Given the description of an element on the screen output the (x, y) to click on. 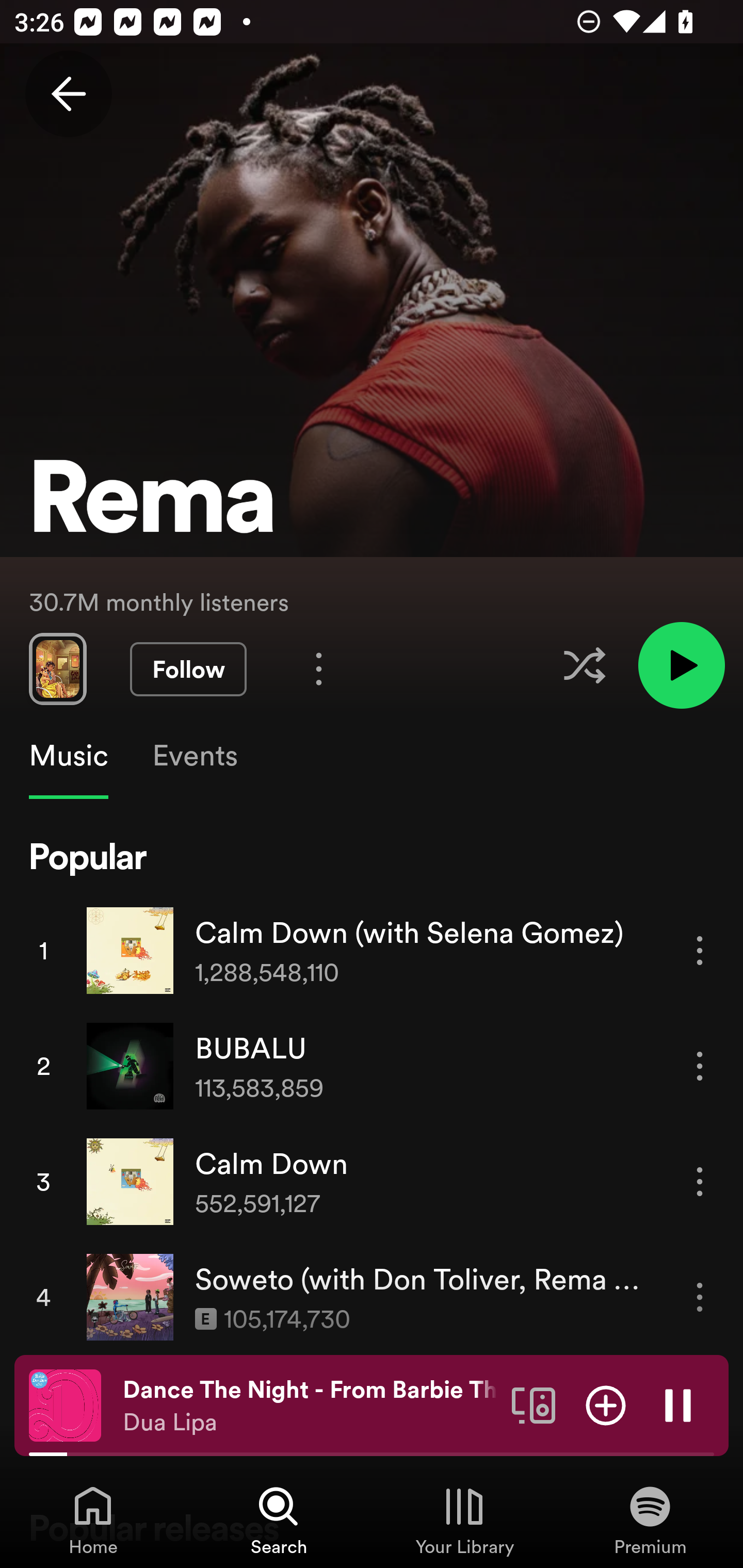
Back (68, 93)
Play artist (681, 664)
Enable shuffle for this artist (583, 665)
More options for artist Rema (318, 668)
Follow (188, 669)
Events (194, 755)
2 BUBALU 113,583,859 More options for song BUBALU (371, 1066)
More options for song BUBALU (699, 1066)
More options for song Calm Down (699, 1181)
Dance The Night - From Barbie The Album Dua Lipa (309, 1405)
The cover art of the currently playing track (64, 1404)
Connect to a device. Opens the devices menu (533, 1404)
Add item (605, 1404)
Pause (677, 1404)
Home, Tab 1 of 4 Home Home (92, 1519)
Search, Tab 2 of 4 Search Search (278, 1519)
Your Library, Tab 3 of 4 Your Library Your Library (464, 1519)
Premium, Tab 4 of 4 Premium Premium (650, 1519)
